Given the description of an element on the screen output the (x, y) to click on. 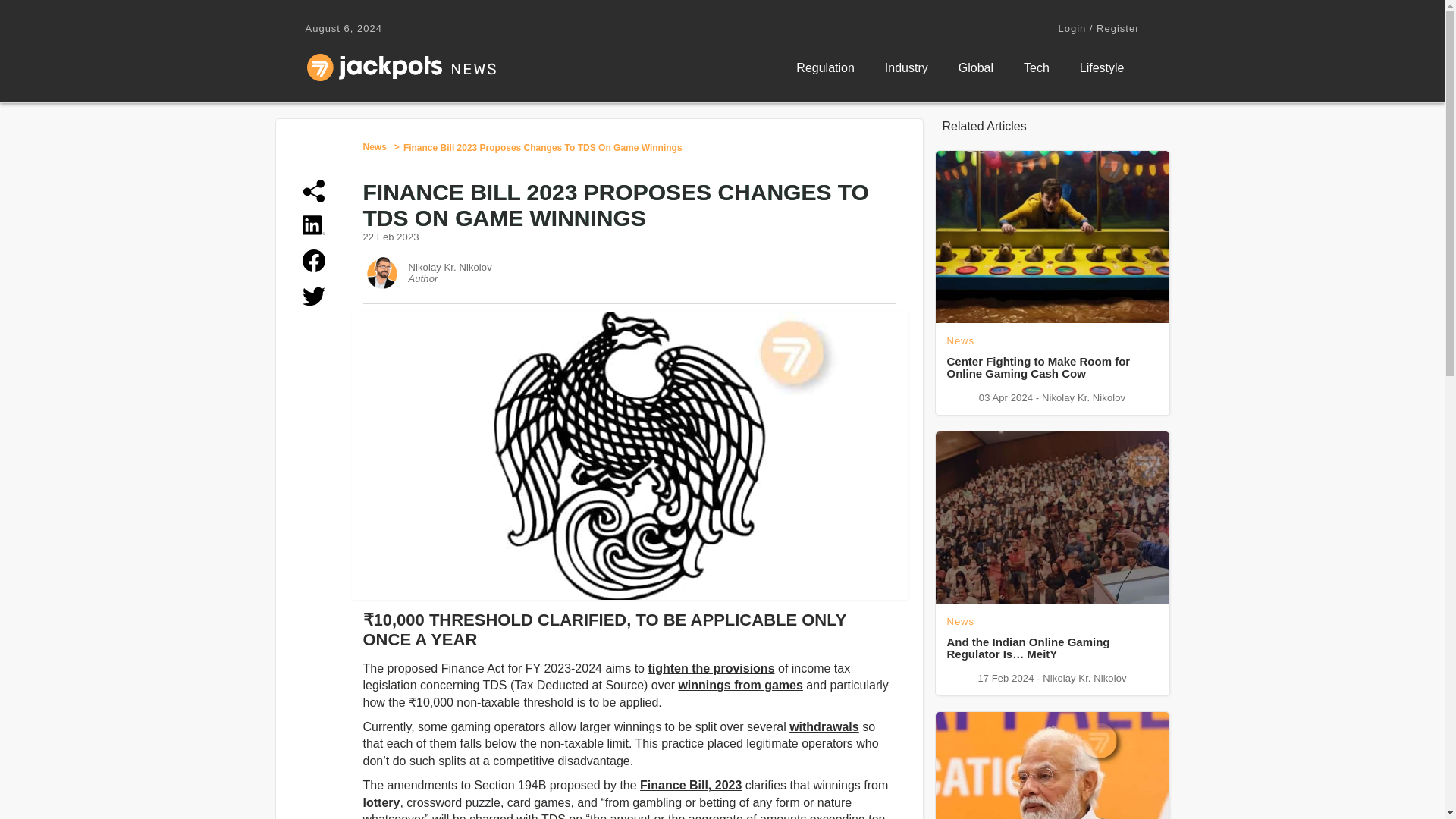
Finance Bill, 2023 (690, 784)
Finance Bill 2023 Proposes Changes to TDS on Game Winnings (542, 147)
News (373, 146)
tighten the provisions (710, 667)
Regulation (824, 67)
Global (976, 67)
winnings from games (740, 684)
Tech (1036, 67)
News (373, 146)
lottery (380, 802)
withdrawals (824, 726)
Lifestyle (1102, 67)
Industry (906, 67)
